Given the description of an element on the screen output the (x, y) to click on. 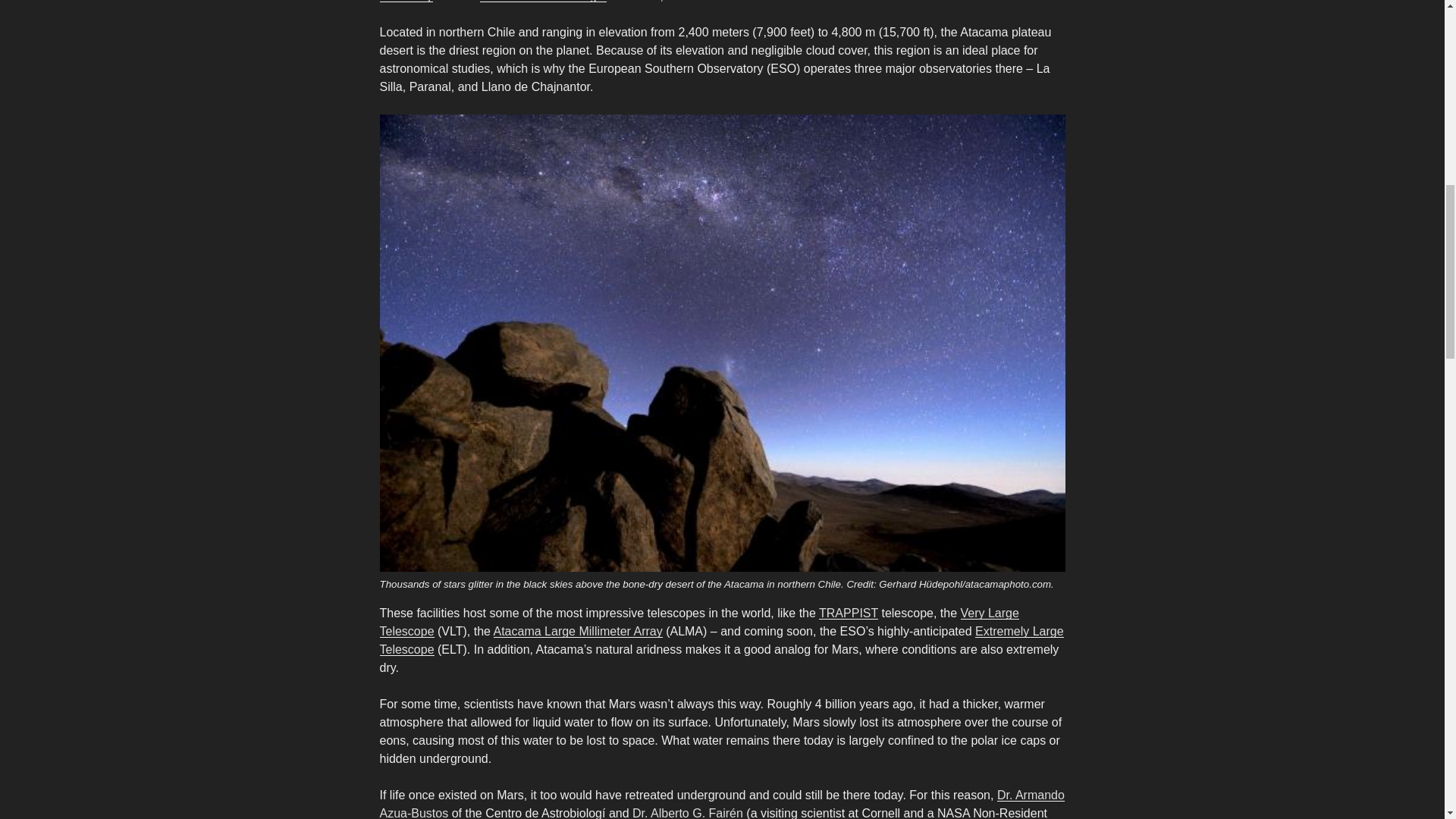
TRAPPIST (847, 612)
Dr. Armando Azua-Bustos (721, 803)
Extremely Large Telescope (720, 640)
Atacama Large Millimeter Array (577, 631)
Very Large Telescope (697, 622)
